Given the description of an element on the screen output the (x, y) to click on. 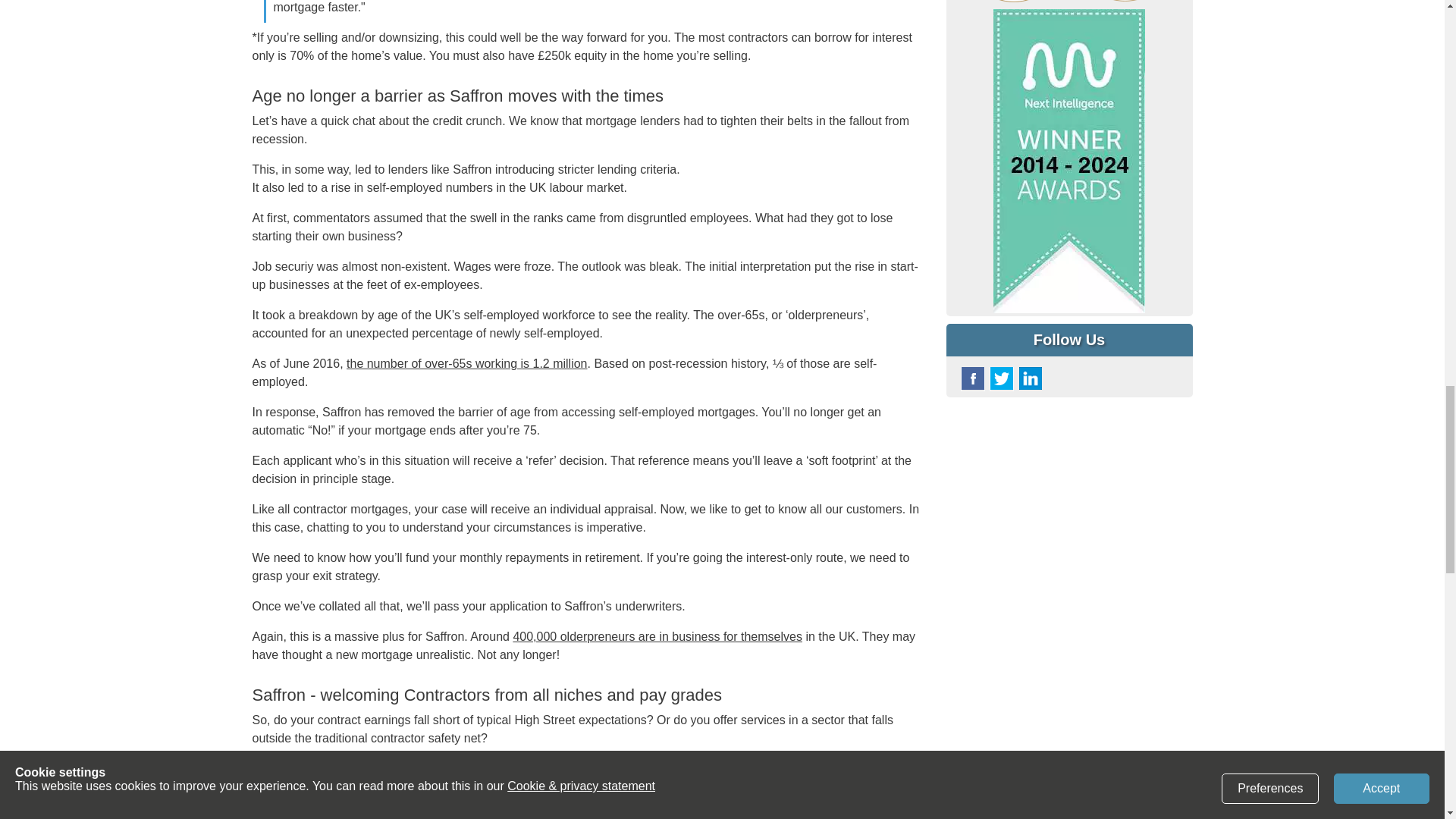
the number of over-65s working is 1.2 million (466, 363)
400,000 olderpreneurs are in business for themselves (657, 635)
I want to carry on working in retirement (657, 635)
Statistical bulletin: UK Labour Market: August 2016 (466, 363)
